Given the description of an element on the screen output the (x, y) to click on. 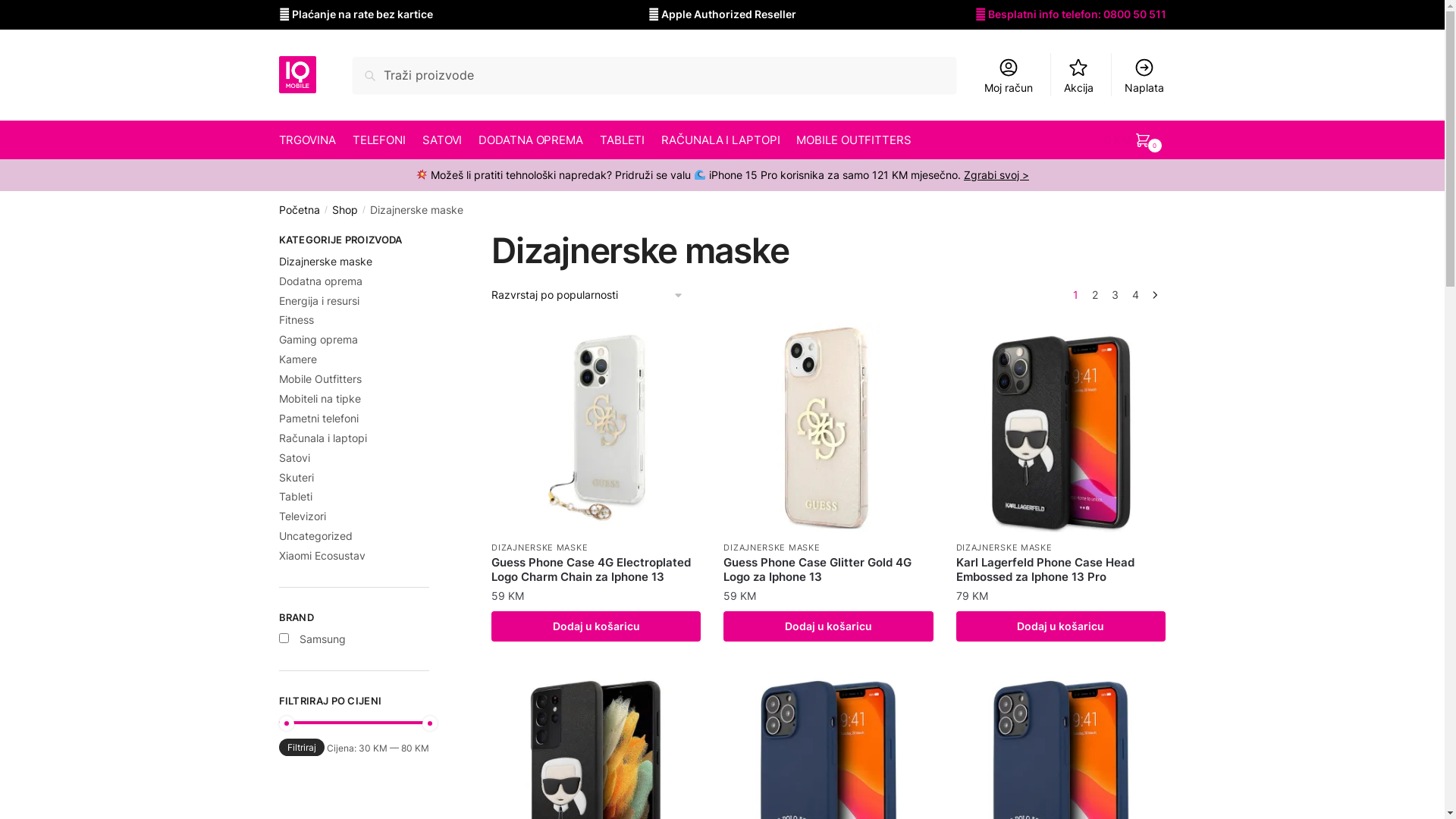
TRGOVINA Element type: text (310, 140)
Mobiteli na tipke Element type: text (319, 398)
DIZAJNERSKE MASKE Element type: text (1004, 547)
4 Element type: text (1135, 295)
Mobile Outfitters Element type: text (320, 378)
3 Element type: text (1114, 295)
Xiaomi Ecosustav Element type: text (322, 555)
Pametni telefoni Element type: text (318, 417)
DIZAJNERSKE MASKE Element type: text (771, 547)
Akcija Element type: text (1078, 75)
TELEFONI Element type: text (378, 140)
Energija i resursi Element type: text (319, 300)
Guess Phone Case Glitter Gold 4G Logo za Iphone 13 Element type: text (827, 569)
Zgrabi svoj > Element type: text (996, 174)
Filtriraj Element type: text (301, 747)
Tableti Element type: text (295, 495)
Dizajnerske maske Element type: text (325, 260)
Skuteri Element type: text (296, 476)
Naplata Element type: text (1143, 75)
Satovi Element type: text (294, 457)
Gaming oprema Element type: text (318, 338)
Shop Element type: text (344, 209)
DODATNA OPREMA Element type: text (530, 140)
Uncategorized Element type: text (315, 535)
DIZAJNERSKE MASKE Element type: text (539, 547)
MOBILE OUTFITTERS Element type: text (853, 140)
Kamere Element type: text (297, 358)
TABLETI Element type: text (622, 140)
Fitness Element type: text (296, 319)
Karl Lagerfeld Phone Case Head Embossed za Iphone 13 Pro Element type: text (1060, 569)
0 KM 0 Element type: text (1135, 140)
Televizori Element type: text (302, 515)
2 Element type: text (1094, 295)
SATOVI Element type: text (442, 140)
Dodatna oprema Element type: text (320, 280)
